Given the description of an element on the screen output the (x, y) to click on. 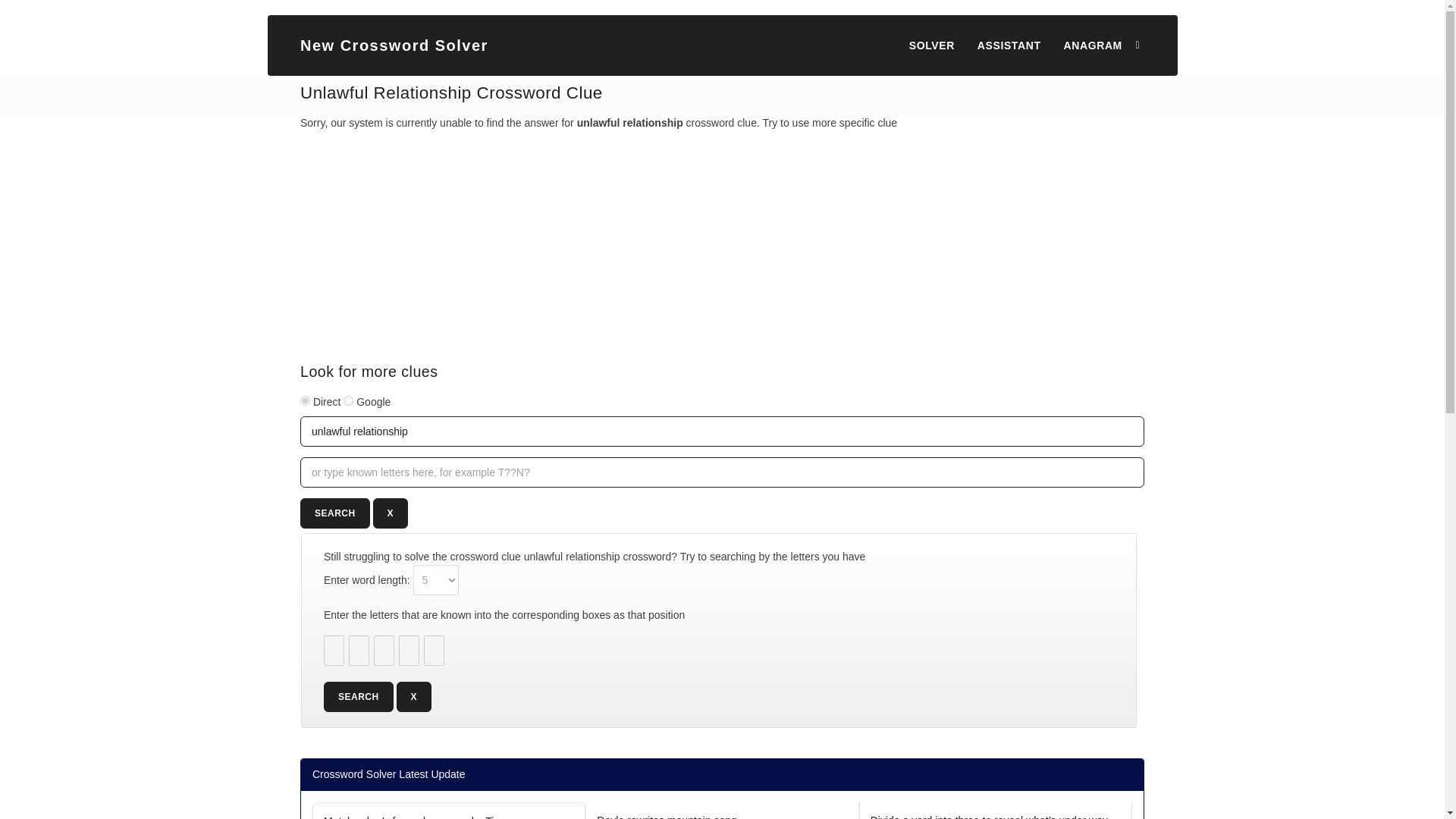
X (390, 512)
ASSISTANT (1008, 44)
SEARCH (358, 696)
X (414, 696)
ANAGRAM (1092, 44)
unlawful relationship  (721, 431)
2 (304, 400)
Doyle rewrites mountain song (722, 810)
3 (348, 400)
SOLVER (931, 44)
New Crossword Solver (393, 45)
SEARCH (334, 512)
